Given the description of an element on the screen output the (x, y) to click on. 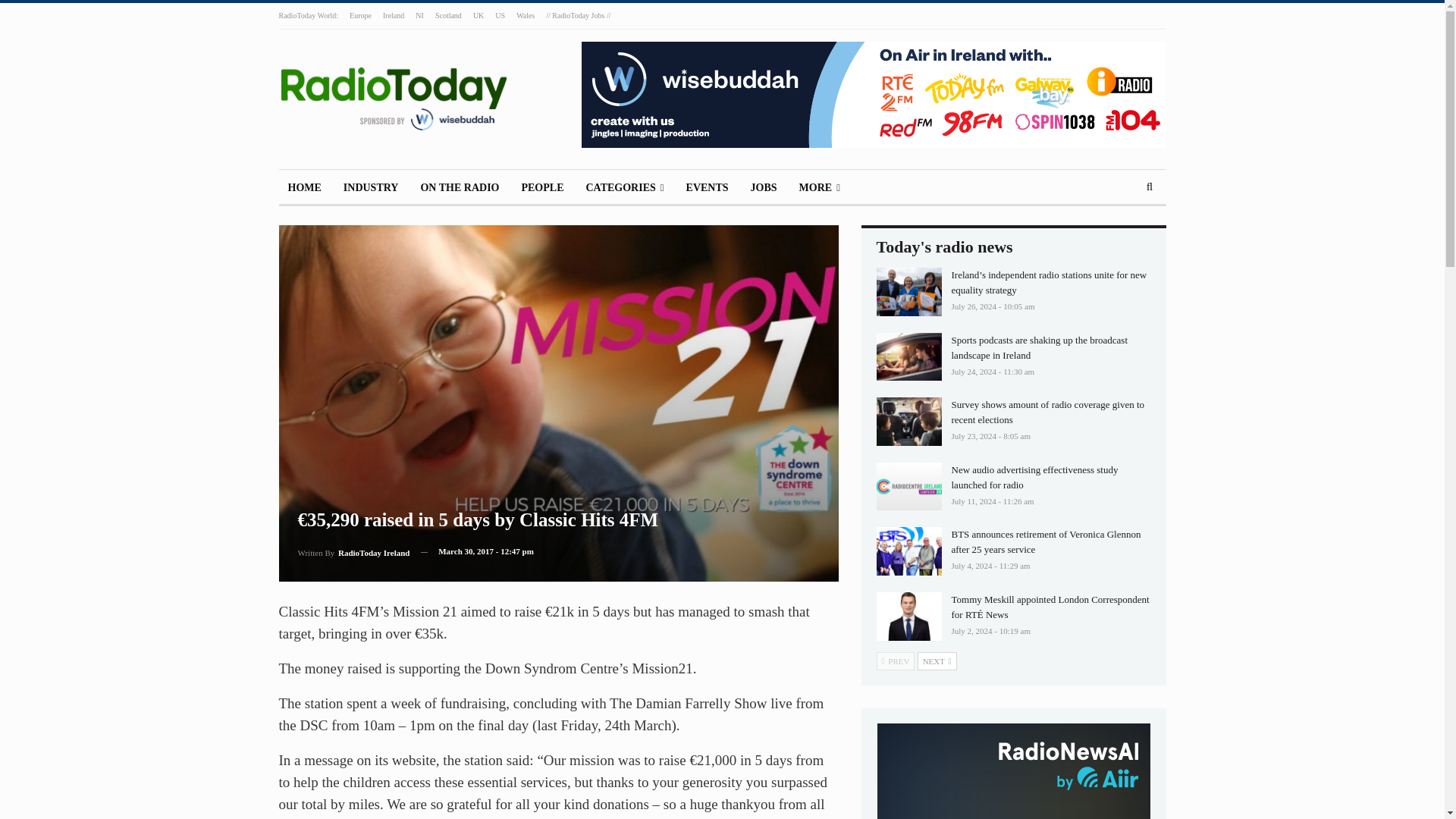
UK (478, 15)
Browse Author Articles (353, 551)
HOME (304, 187)
Written By RadioToday Ireland (353, 551)
Wales (525, 15)
JOBS (763, 187)
INDUSTRY (370, 187)
EVENTS (707, 187)
MORE (819, 187)
RadioToday World: (309, 15)
PEOPLE (542, 187)
US (500, 15)
Scotland (448, 15)
Ireland (393, 15)
NI (418, 15)
